Given the description of an element on the screen output the (x, y) to click on. 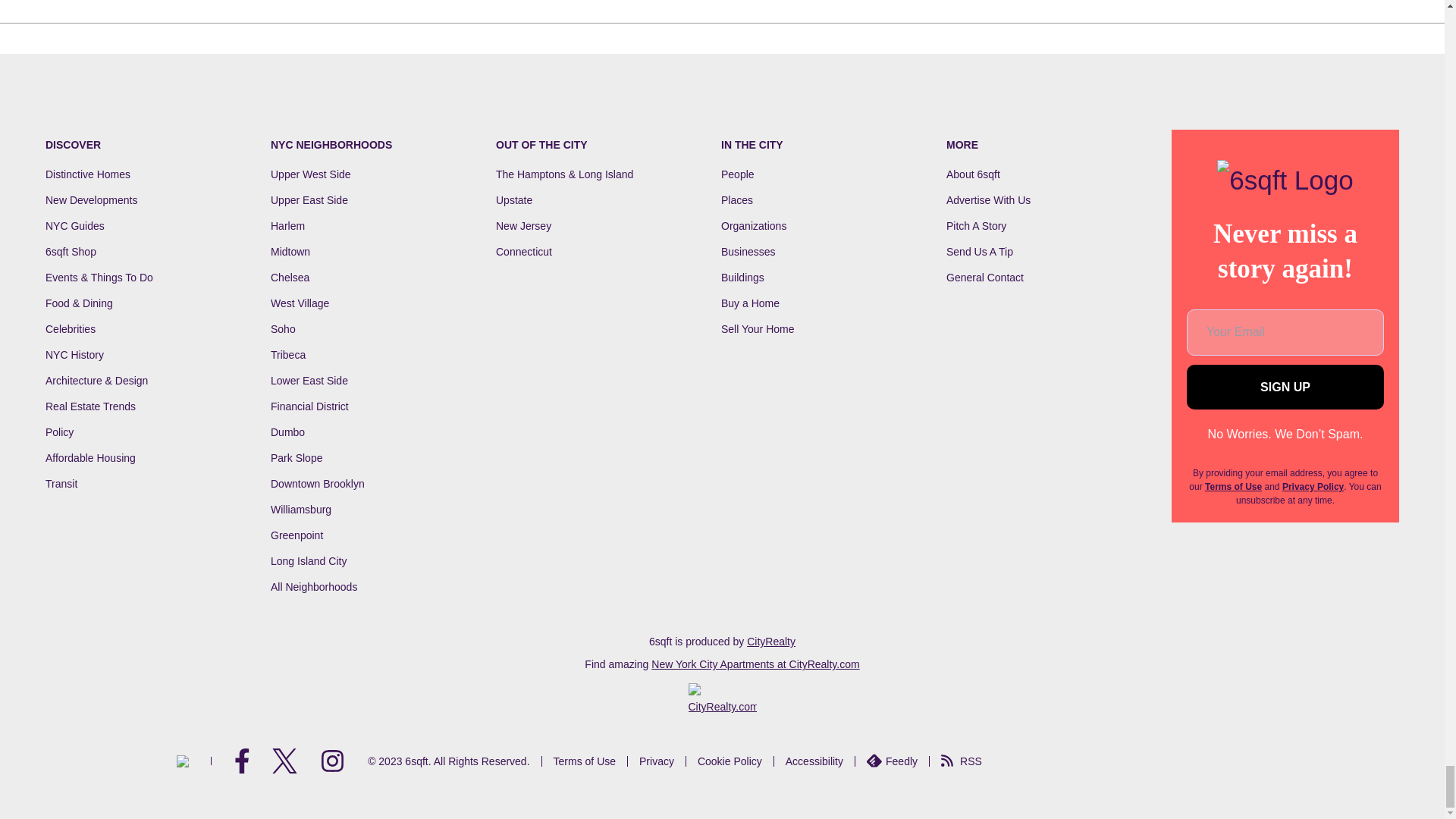
SIGN UP (1285, 386)
